Given the description of an element on the screen output the (x, y) to click on. 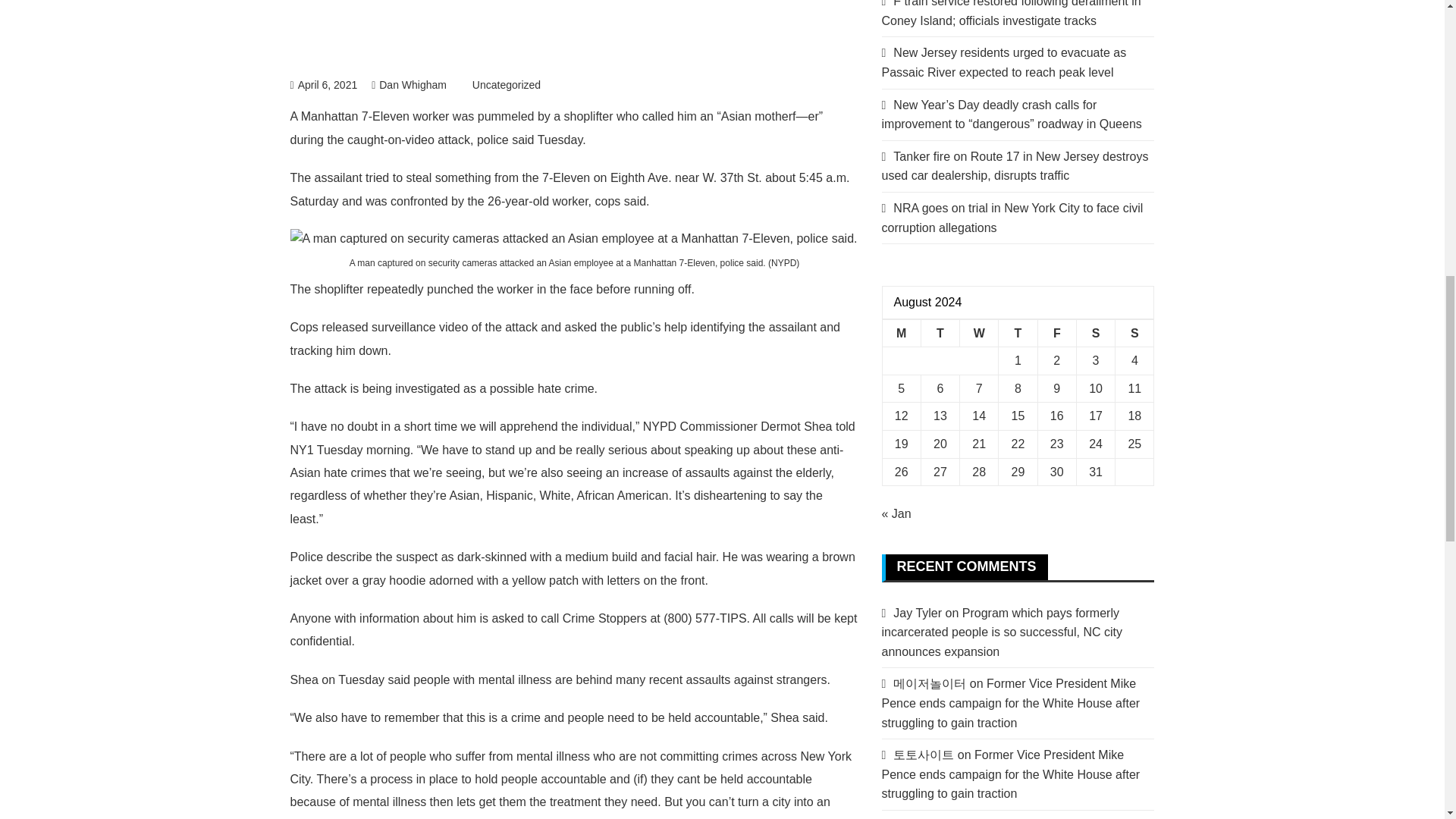
Wednesday (978, 333)
Dan Whigham (408, 84)
Jay Tyler (917, 612)
Tuesday (939, 333)
April 6, 2021 (322, 84)
Sunday (1134, 333)
Monday (901, 333)
Friday (1055, 333)
Thursday (1017, 333)
